Given the description of an element on the screen output the (x, y) to click on. 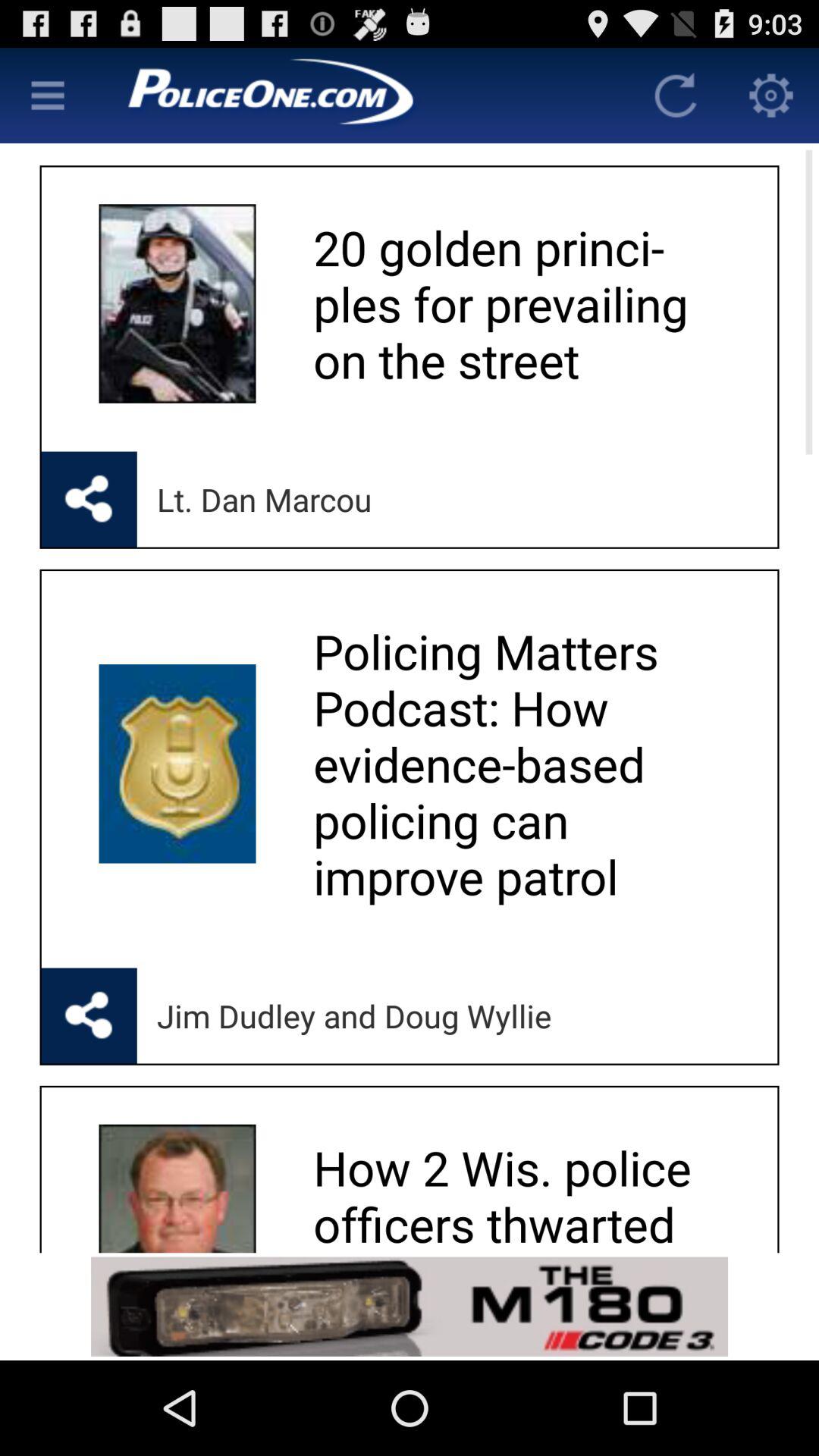
app brand (361, 95)
